Given the description of an element on the screen output the (x, y) to click on. 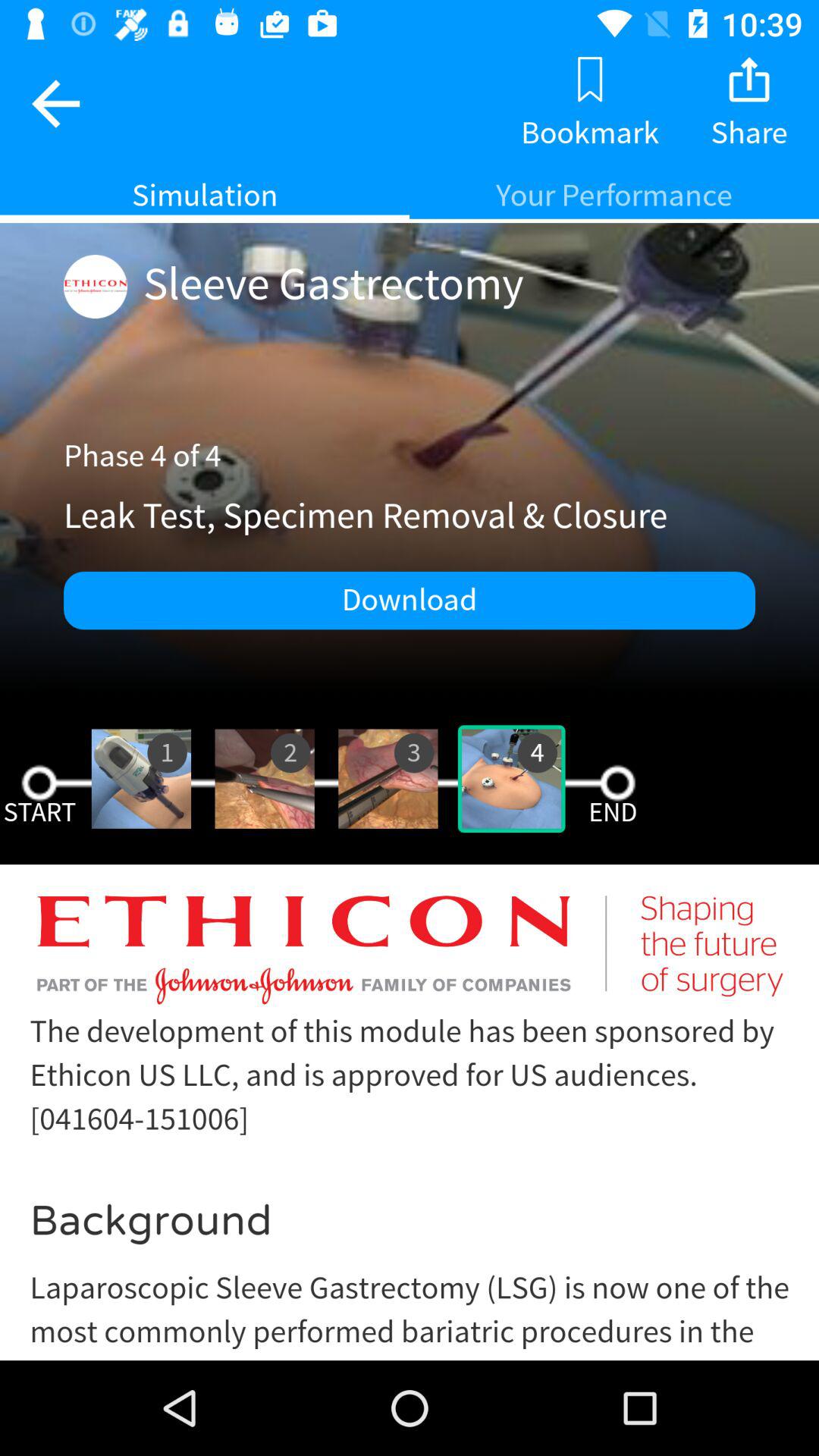
click on image next to start option (140, 778)
